Given the description of an element on the screen output the (x, y) to click on. 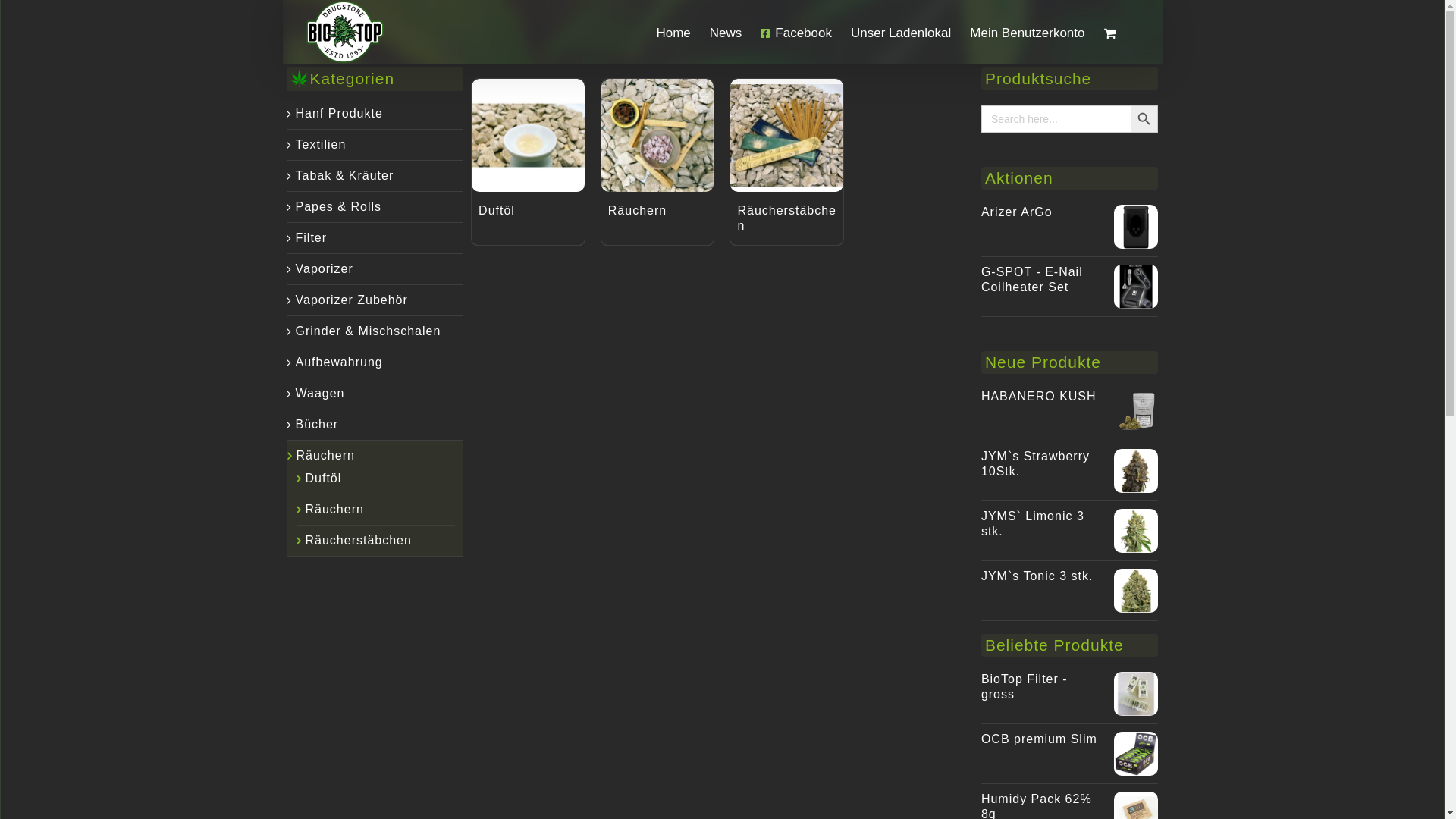
BioTop Filter - gross Element type: text (1024, 686)
Vaporizer Element type: text (324, 268)
Aufbewahrung Element type: text (338, 361)
Hanf Produkte Element type: text (338, 112)
Textilien Element type: text (320, 144)
Arizer ArGo Element type: text (1016, 211)
Search Button Element type: text (1143, 118)
Unser Ladenlokal Element type: text (900, 31)
HABANERO KUSH Element type: text (1038, 395)
Papes & Rolls Element type: text (338, 206)
Grinder & Mischschalen Element type: text (368, 330)
Anmelden Element type: text (1058, 175)
JYMS` Limonic 3 stk. Element type: text (1032, 523)
News Element type: text (725, 31)
OCB premium Slim Element type: text (1039, 738)
Filter Element type: text (311, 237)
G-SPOT - E-Nail Coilheater Set Element type: text (1031, 279)
JYM`s Tonic 3 stk. Element type: text (1037, 575)
Waagen Element type: text (320, 392)
Facebook Element type: text (795, 31)
Mein Benutzerkonto Element type: text (1026, 31)
Home Element type: text (672, 31)
JYM`s Strawberry 10Stk. Element type: text (1035, 463)
